Given the description of an element on the screen output the (x, y) to click on. 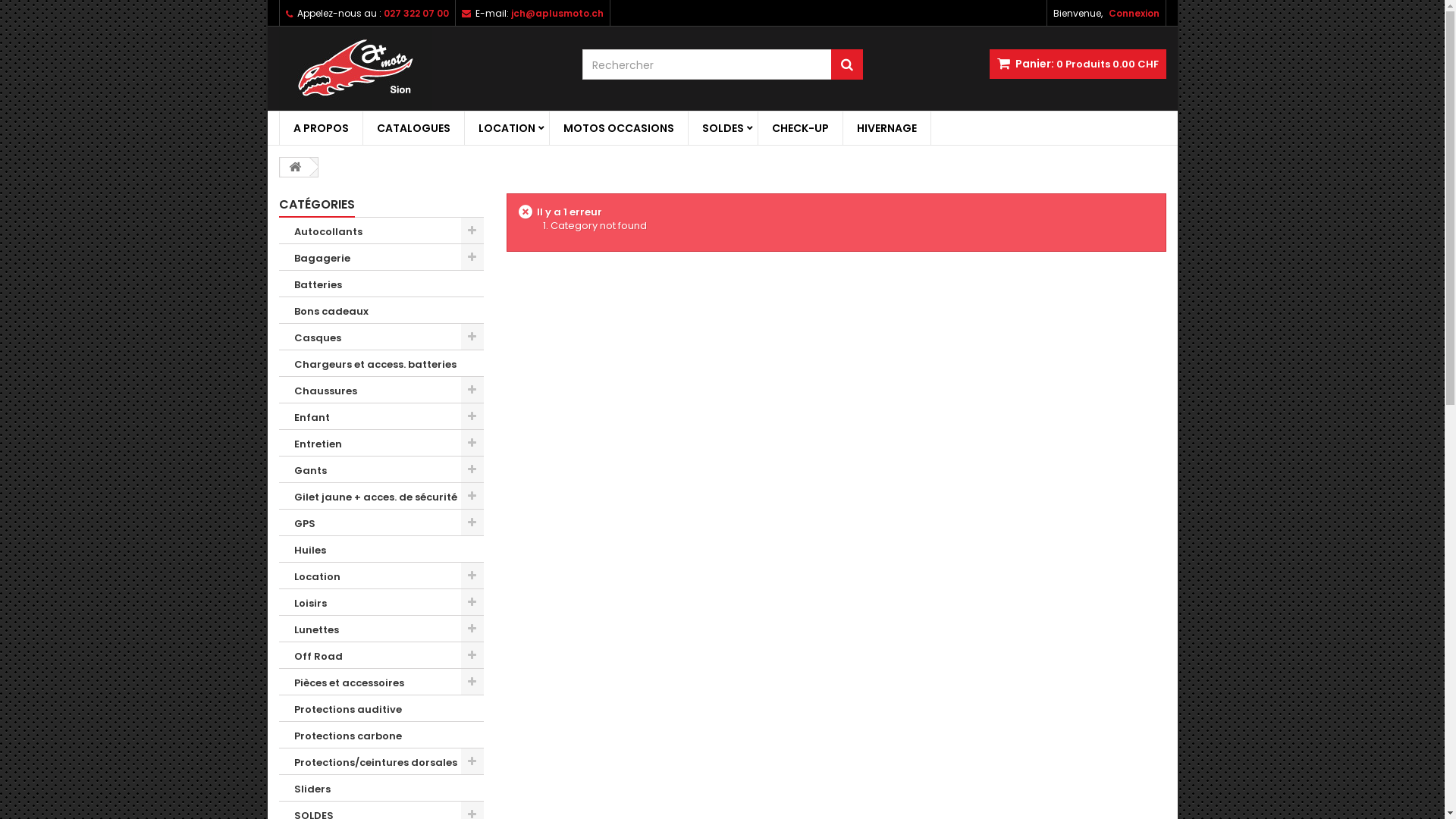
Location Element type: text (381, 575)
Off Road Element type: text (381, 655)
Casques Element type: text (381, 336)
CATALOGUES Element type: text (412, 127)
LOCATION Element type: text (506, 127)
Chaussures Element type: text (381, 389)
Sliders Element type: text (381, 788)
Connexion Element type: text (1134, 12)
Gants Element type: text (381, 469)
GPS Element type: text (381, 522)
Lunettes Element type: text (381, 628)
Protections/ceintures dorsales Element type: text (381, 761)
Enfant Element type: text (381, 416)
Huiles Element type: text (381, 549)
Protections carbone Element type: text (381, 734)
A PROPOS Element type: text (320, 127)
Protections auditive Element type: text (381, 708)
SOLDES Element type: text (722, 127)
Chargeurs et access. batteries Element type: text (381, 363)
Batteries Element type: text (381, 283)
Bagagerie Element type: text (381, 257)
MOTOS OCCASIONS Element type: text (618, 127)
Bons cadeaux Element type: text (381, 310)
aplusmoto Element type: hover (419, 68)
Entretien Element type: text (381, 442)
Loisirs Element type: text (381, 602)
CHECK-UP Element type: text (800, 127)
Panier: 0 Produits 0.00 CHF Element type: text (1076, 63)
HIVERNAGE Element type: text (886, 127)
Autocollants Element type: text (381, 230)
